Given the description of an element on the screen output the (x, y) to click on. 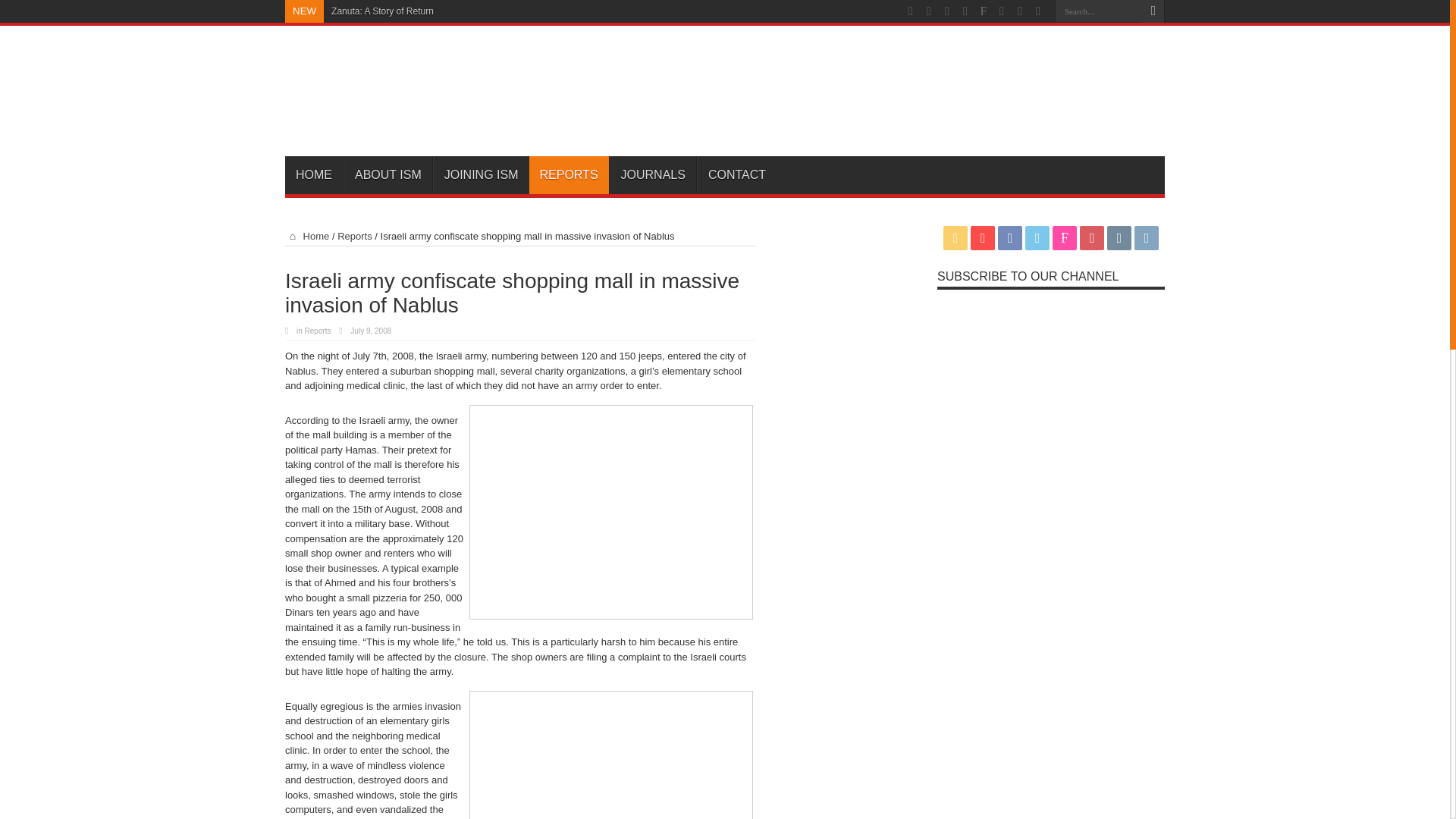
Search... (1097, 11)
JOURNALS (652, 175)
ABOUT ISM (387, 175)
Home (307, 235)
Reports (317, 330)
International Solidarity Movement (436, 117)
HOME (313, 175)
Search (1152, 11)
REPORTS (568, 175)
CONTACT (736, 175)
